Given the description of an element on the screen output the (x, y) to click on. 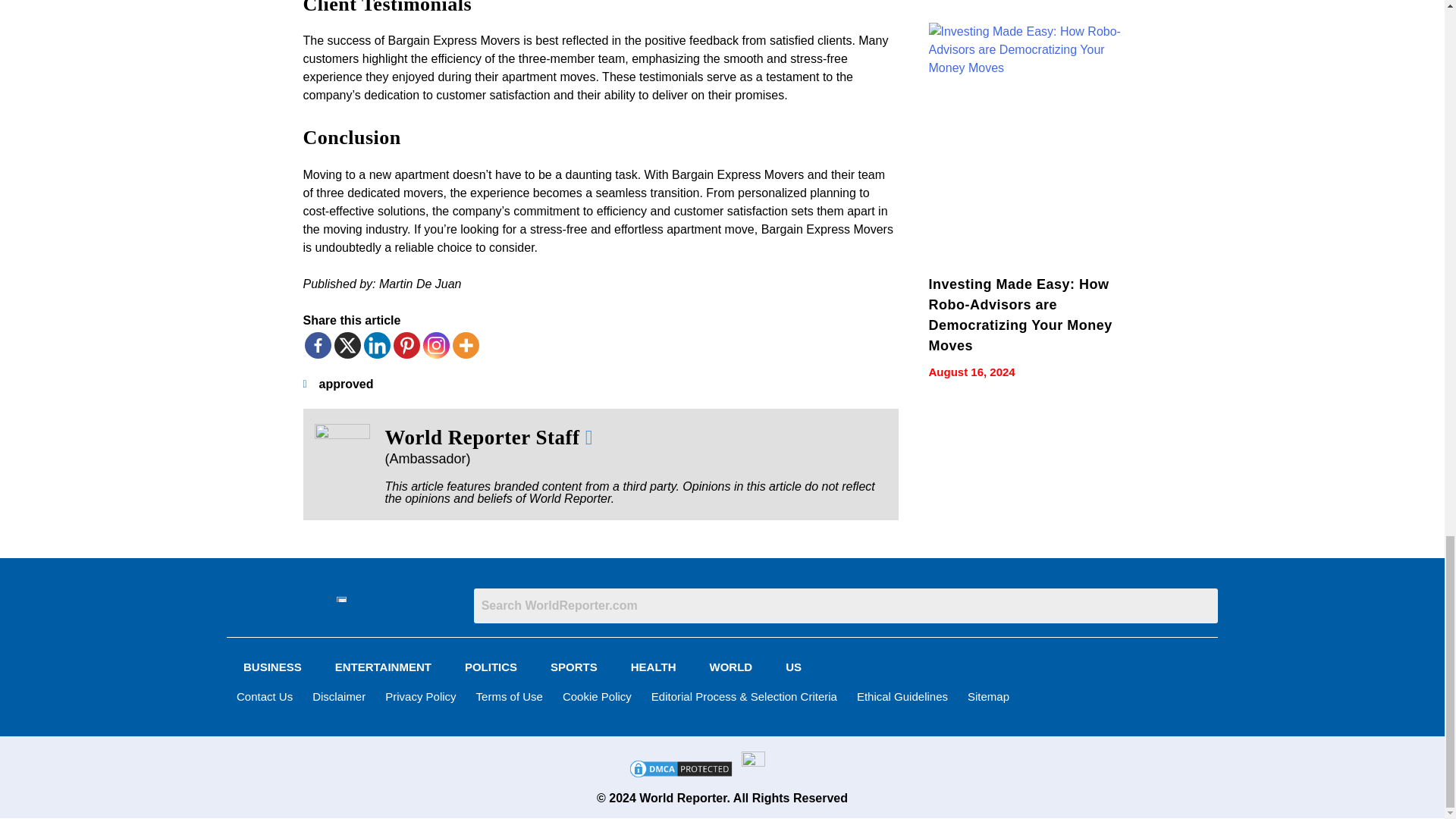
Pinterest (406, 345)
Facebook (317, 345)
Search (845, 605)
DMCA.com Protection Status (680, 775)
Linkedin (377, 345)
More (465, 345)
approved (345, 383)
Instagram (436, 345)
X (346, 345)
